Given the description of an element on the screen output the (x, y) to click on. 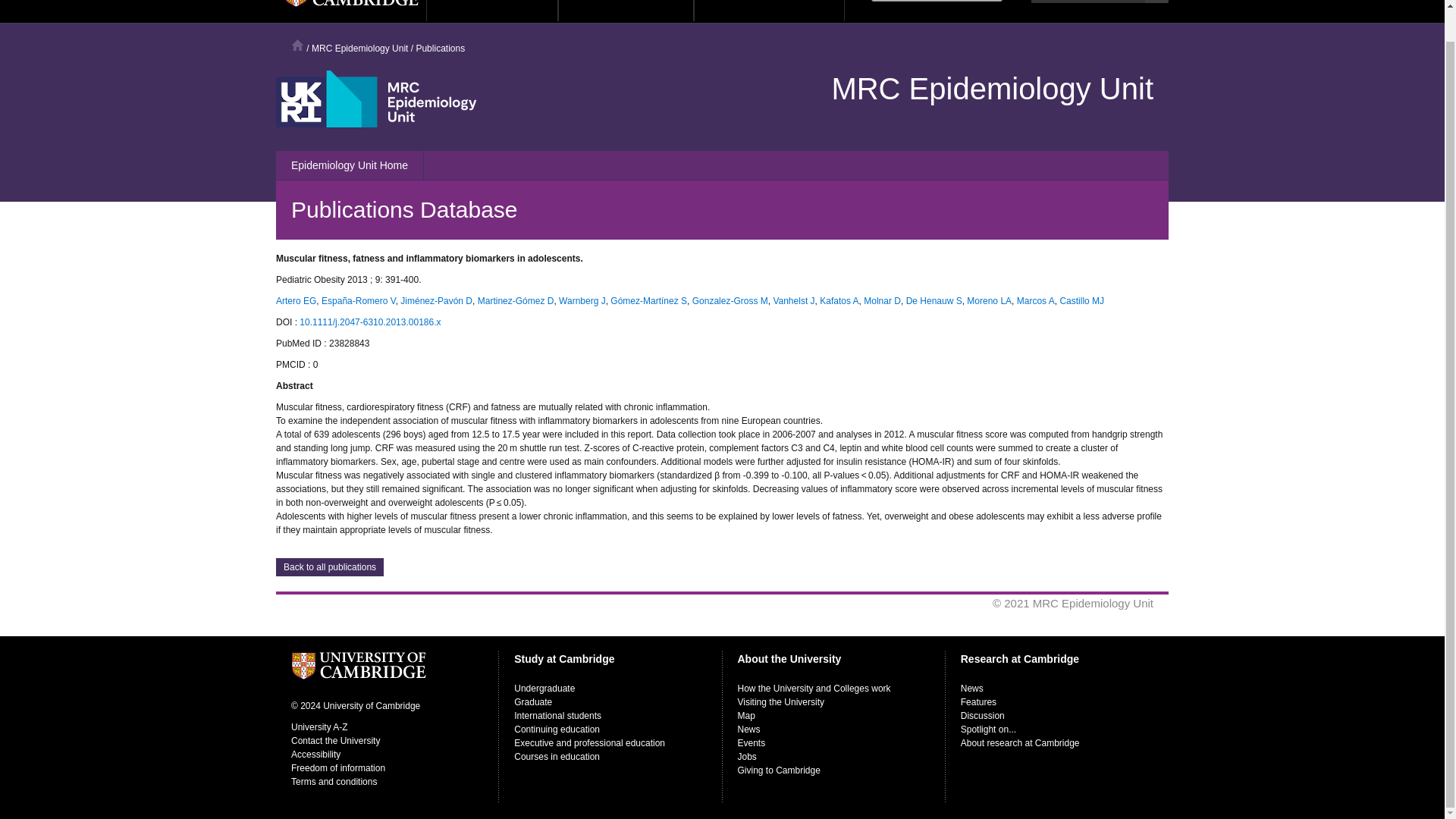
About the University (625, 10)
Research at Cambridge (769, 10)
Study at Cambridge (491, 10)
